Given the description of an element on the screen output the (x, y) to click on. 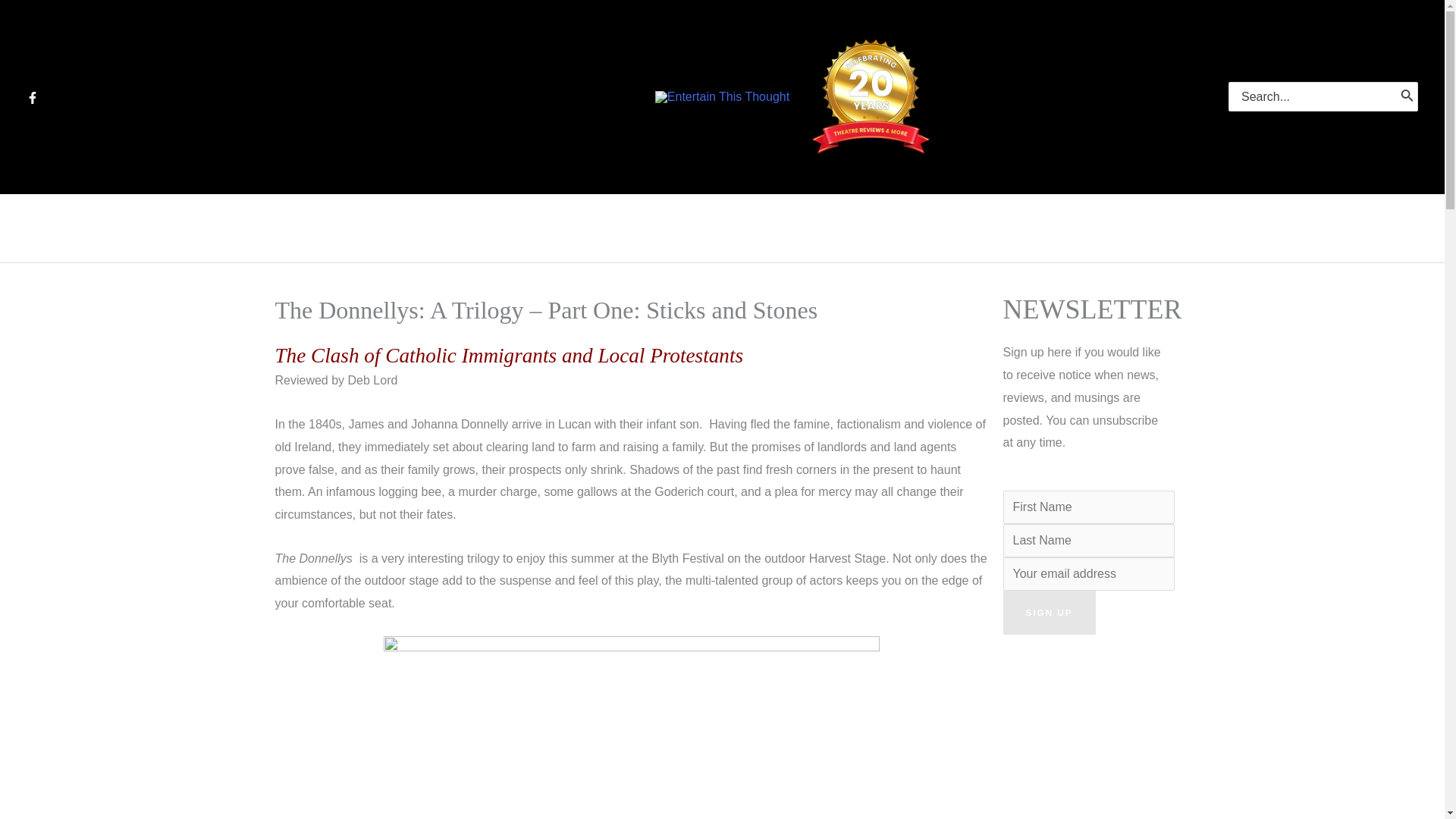
Archives (709, 227)
Home (490, 227)
Sign up (1048, 612)
About (951, 227)
Now Playing (593, 227)
Sign up (1048, 612)
